Given the description of an element on the screen output the (x, y) to click on. 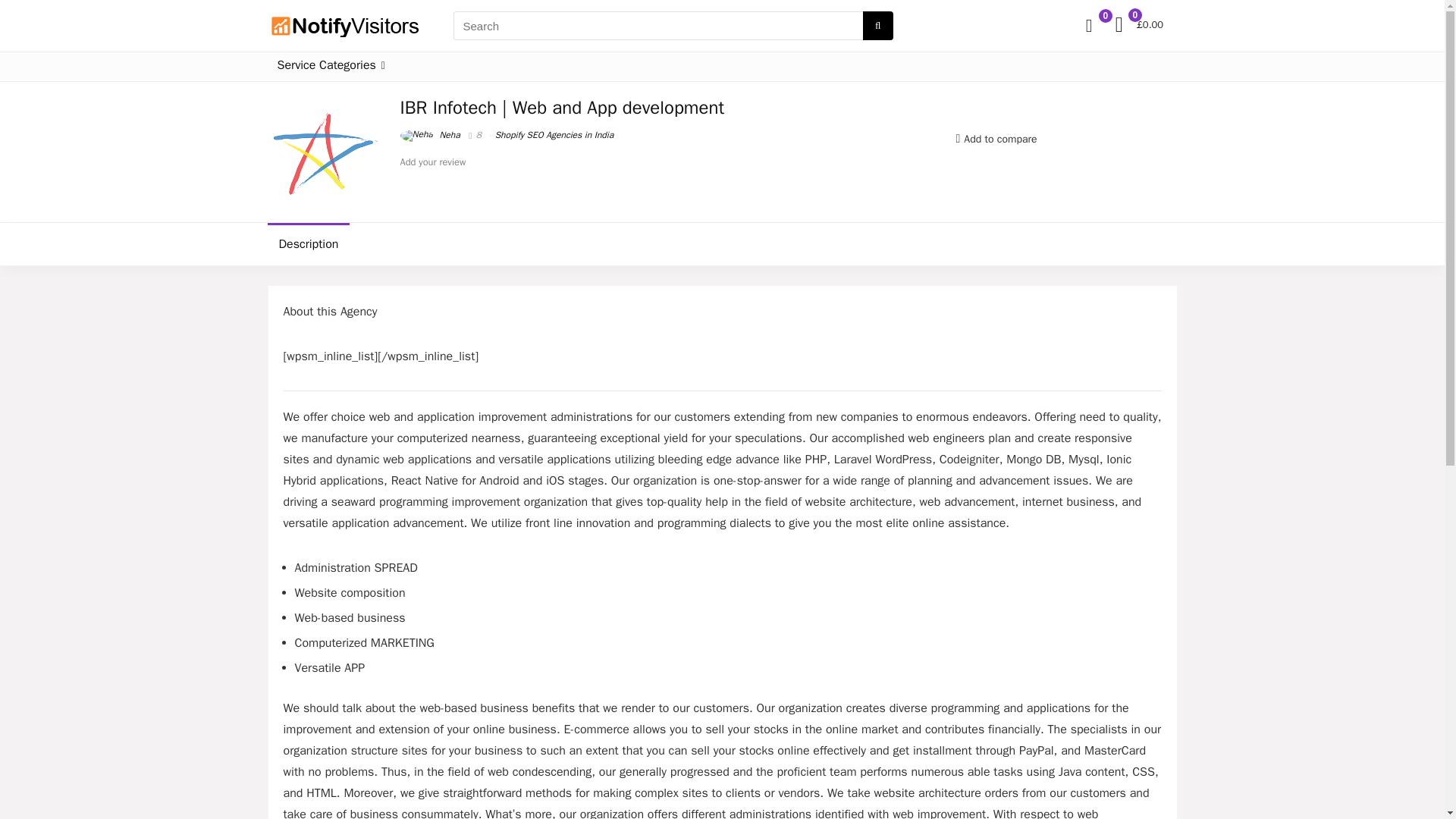
Add your review (432, 162)
Description (307, 243)
Neha (430, 134)
Service Categories (330, 66)
Description (721, 243)
Shopify SEO Agencies in India (554, 134)
